Given the description of an element on the screen output the (x, y) to click on. 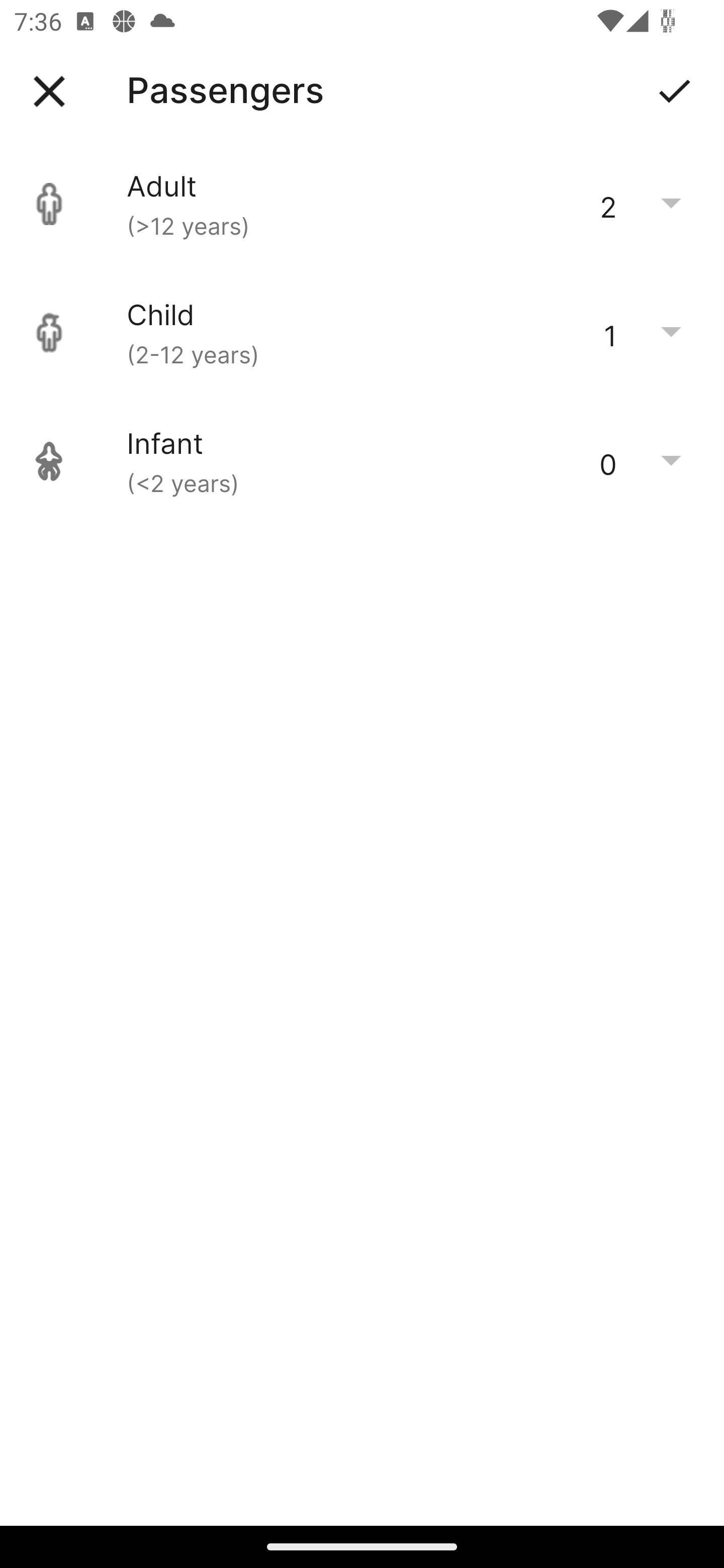
Adult (>12 years) 2 (362, 204)
Child (2-12 years) 1 (362, 332)
Infant (<2 years) 0 (362, 461)
